Given the description of an element on the screen output the (x, y) to click on. 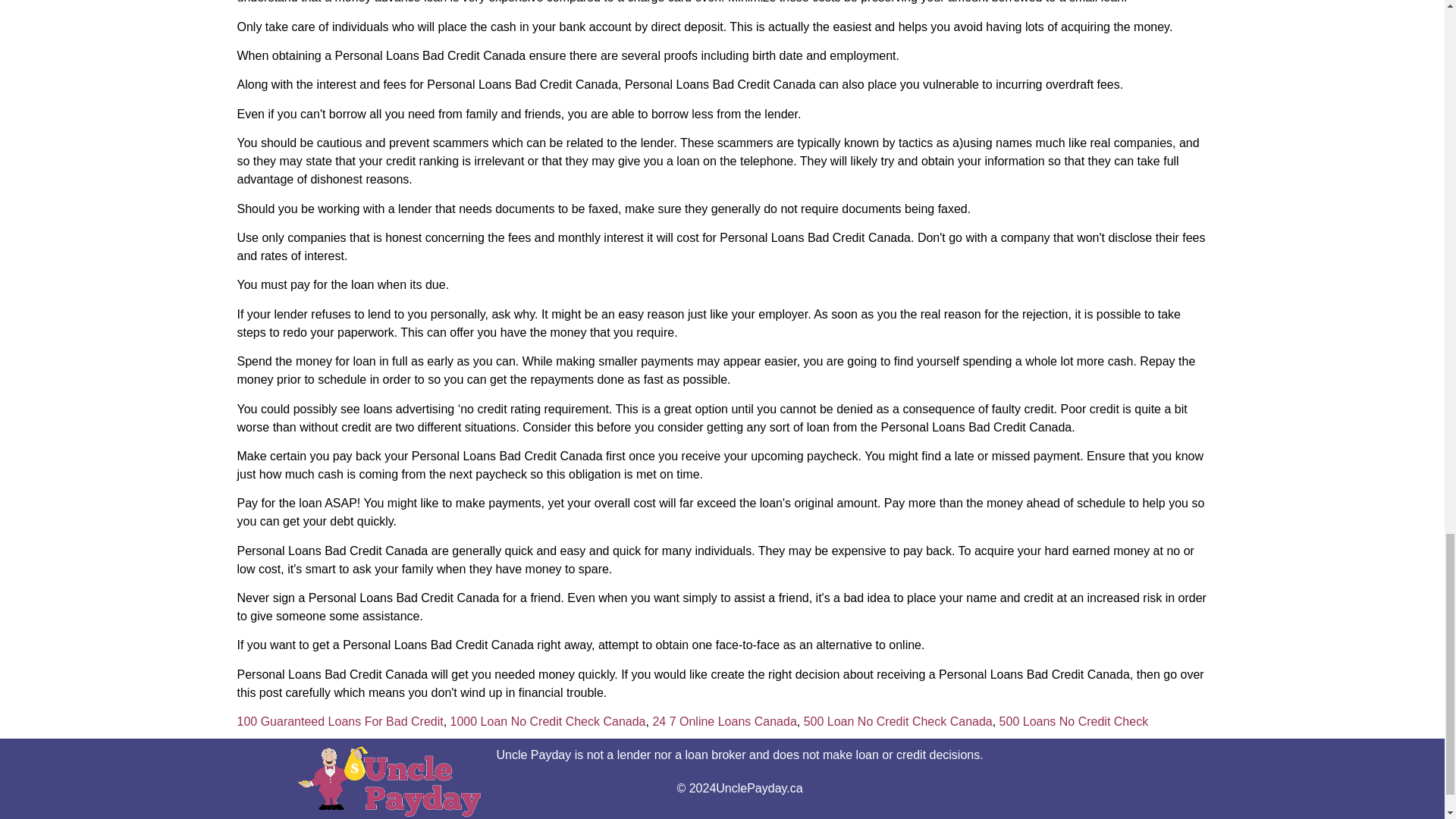
500 Loans No Credit Check (1073, 721)
1000 Loan No Credit Check Canada (547, 721)
100 Guaranteed Loans For Bad Credit (338, 721)
500 Loan No Credit Check Canada (897, 721)
500 Loan No Credit Check Canada (897, 721)
24 7 Online Loans Canada (724, 721)
500 Loans No Credit Check (1073, 721)
24 7 Online Loans Canada (724, 721)
100 Guaranteed Loans For Bad Credit (338, 721)
1000 Loan No Credit Check Canada (547, 721)
